Given the description of an element on the screen output the (x, y) to click on. 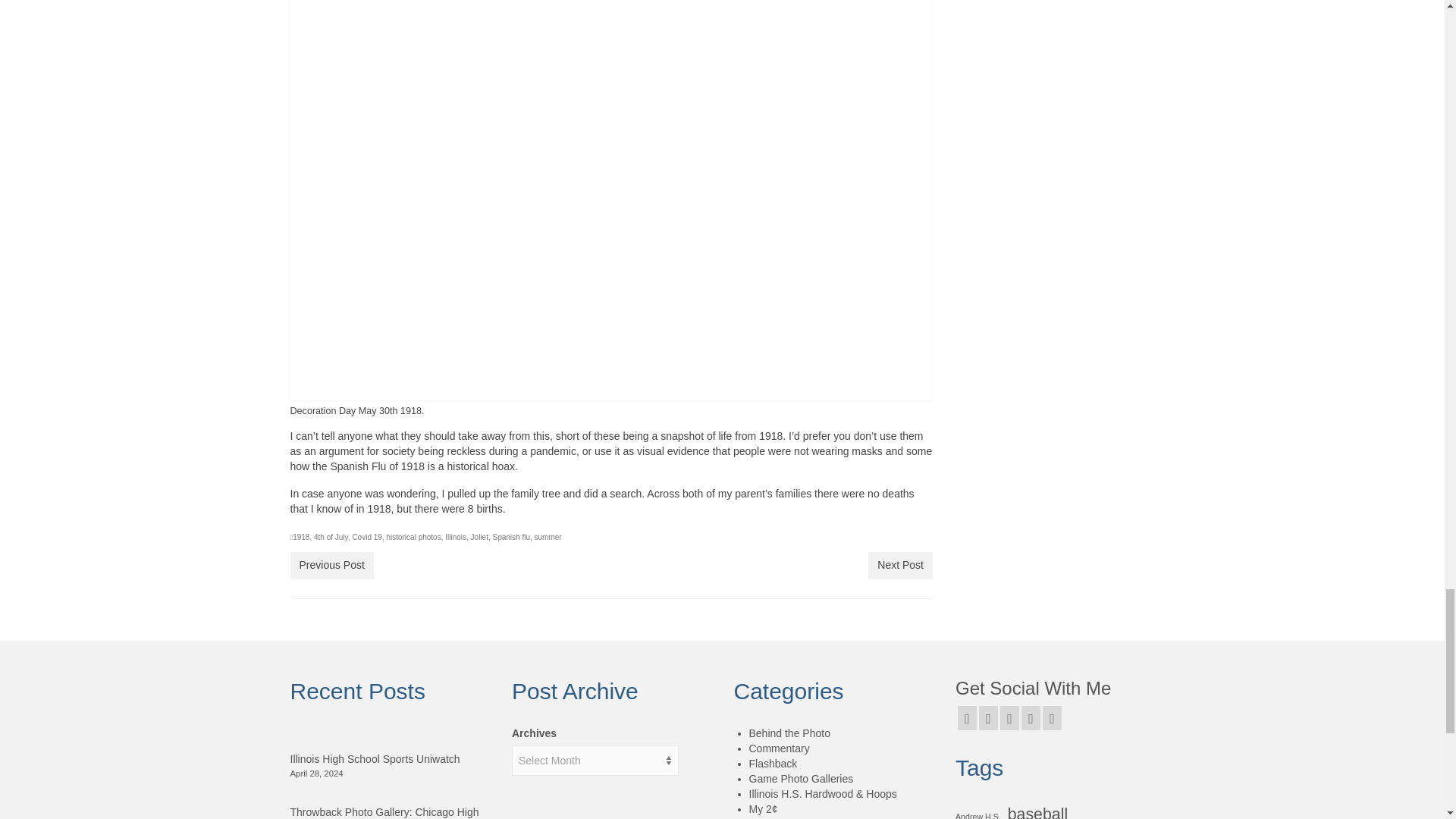
Previous Post (330, 565)
Next Post (900, 565)
Joliet (478, 537)
1918 (300, 537)
Spanish flu (511, 537)
4th of July (330, 537)
Illinois (455, 537)
Covid 19 (366, 537)
historical photos (413, 537)
summer (548, 537)
